Given the description of an element on the screen output the (x, y) to click on. 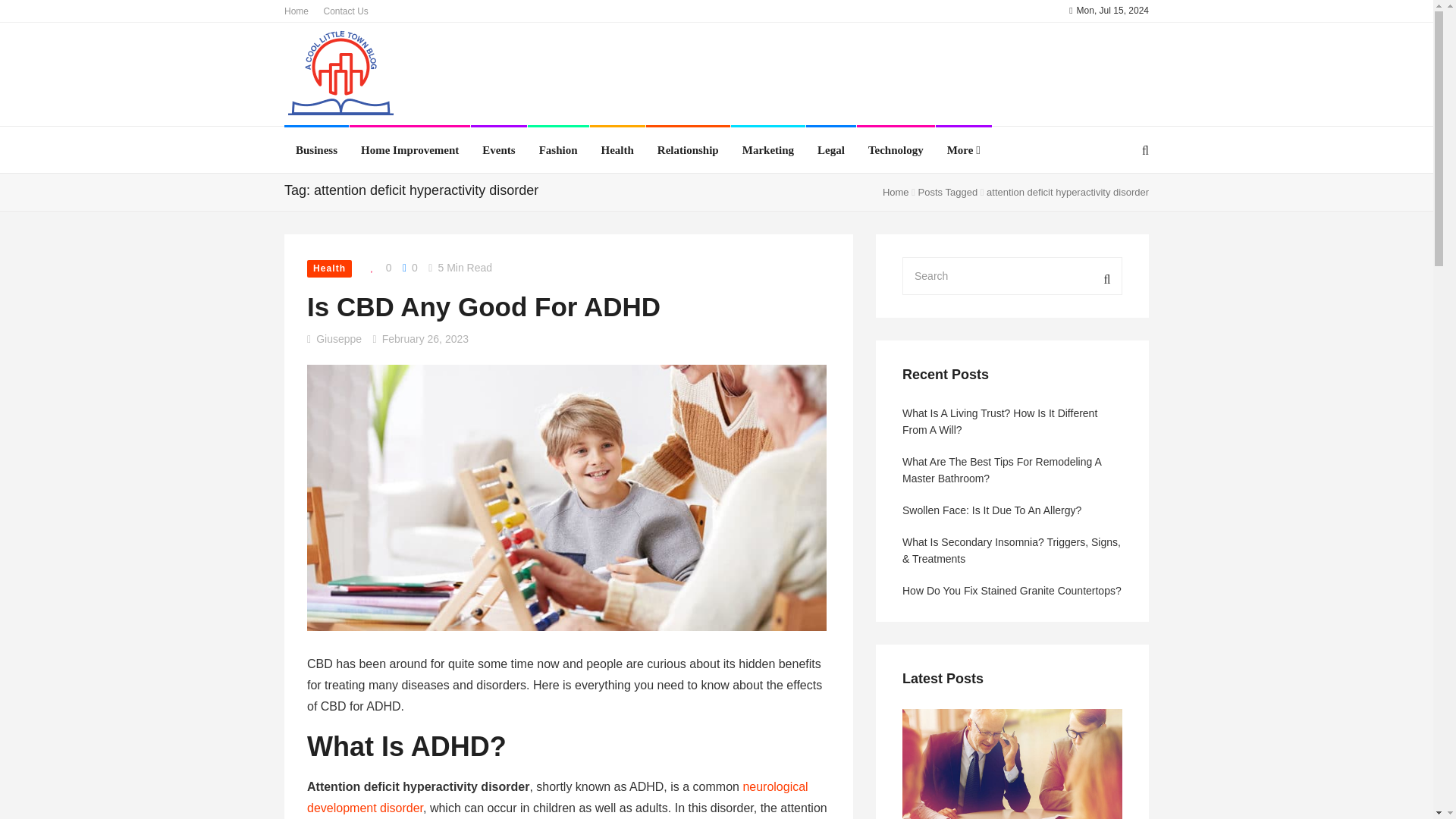
Health (329, 268)
How Do You Fix Stained Granite Countertops? (1012, 590)
Marketing (767, 149)
Relationship (688, 149)
Business (316, 149)
Home (295, 10)
Relationship (688, 149)
neurological development disorder (557, 797)
Swollen Face: Is It Due To An Allergy? (1012, 510)
Technology (895, 149)
0 (408, 267)
February 26, 2023 (424, 338)
Giuseppe (338, 338)
Technology (895, 149)
What Are The Best Tips For Remodeling A Master Bathroom? (1012, 469)
